Given the description of an element on the screen output the (x, y) to click on. 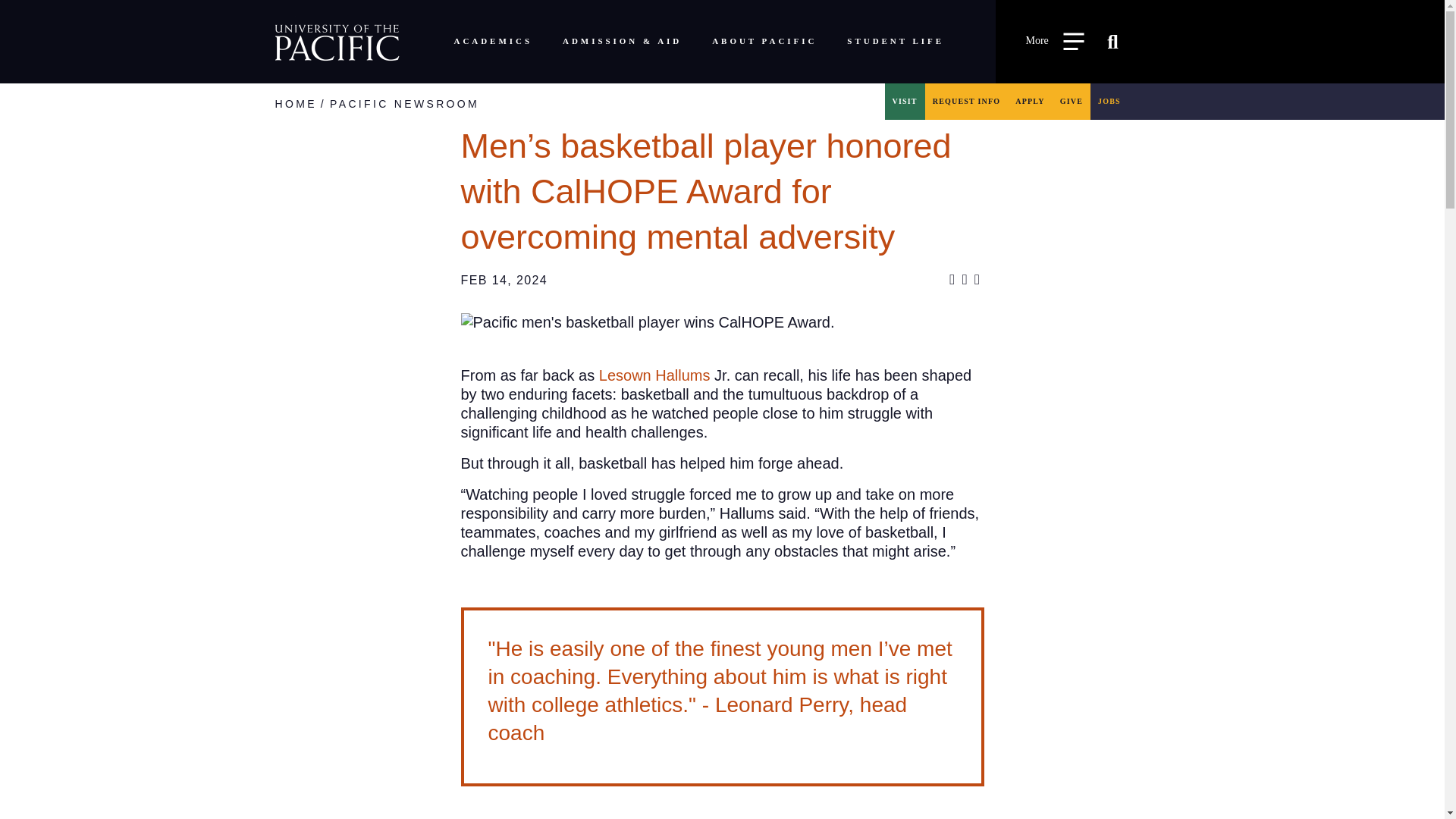
ACADEMICS (491, 40)
STUDENT LIFE (895, 40)
ABOUT PACIFIC (763, 40)
